Given the description of an element on the screen output the (x, y) to click on. 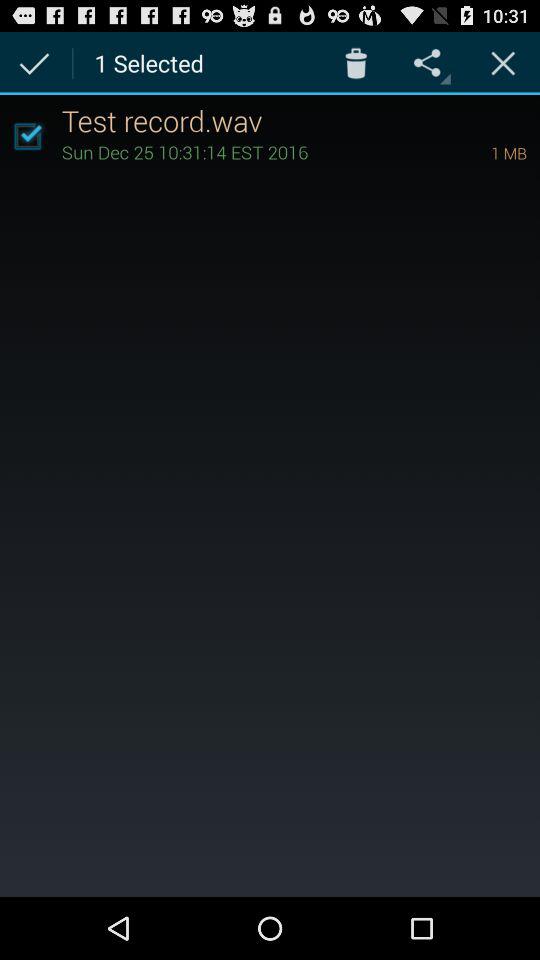
press the icon to the right of the 1 selected icon (356, 62)
